Given the description of an element on the screen output the (x, y) to click on. 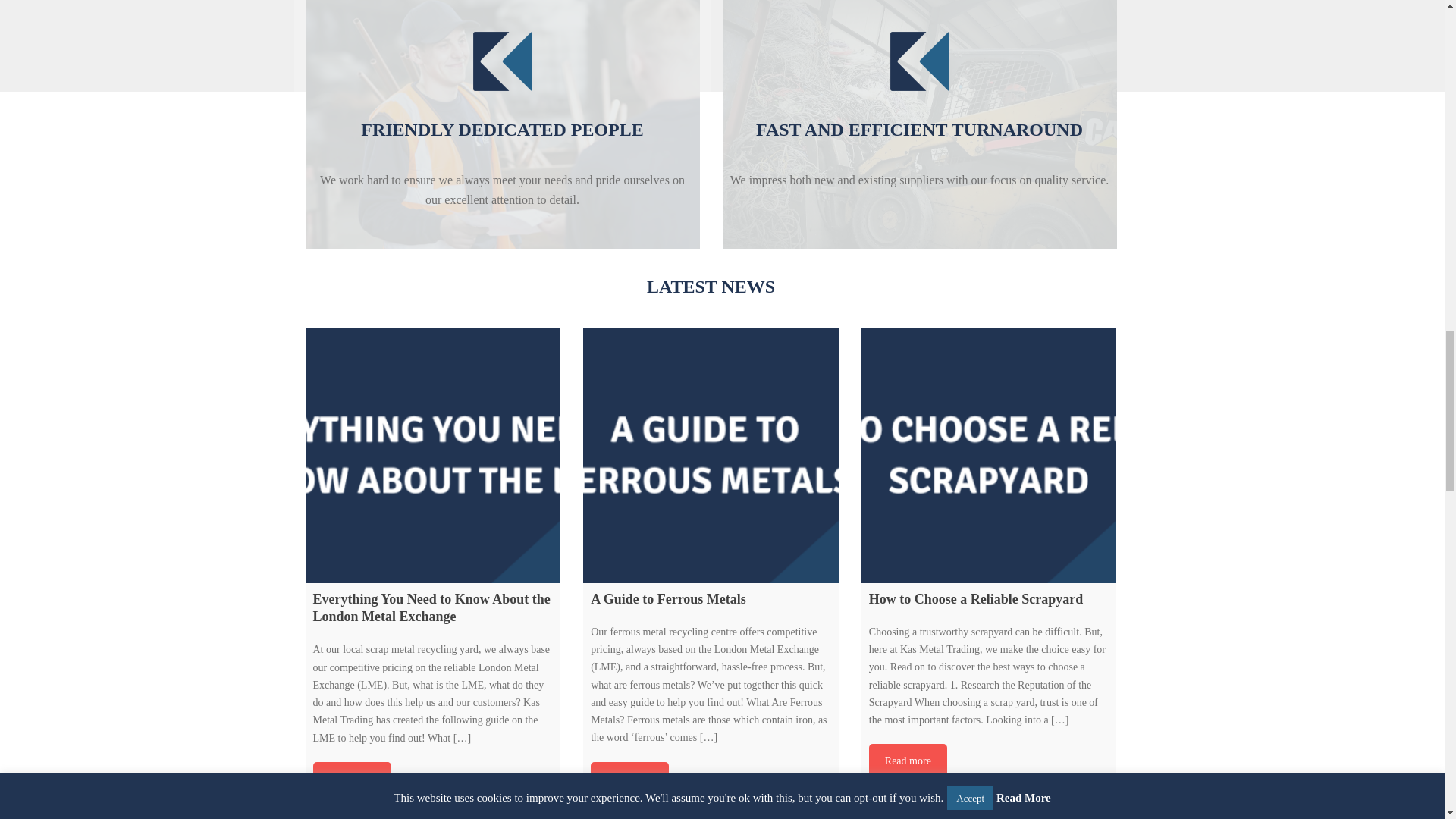
Read more (351, 779)
favicon (501, 60)
Read more (908, 760)
Read more (629, 779)
Read more (629, 779)
Read more (351, 779)
Read more (908, 760)
A Guide to Ferrous Metals (710, 455)
How to Choose a Reliable Scrapyard (988, 455)
favicon (918, 60)
Everything You Need to Know About the London Metal Exchange (432, 455)
